Given the description of an element on the screen output the (x, y) to click on. 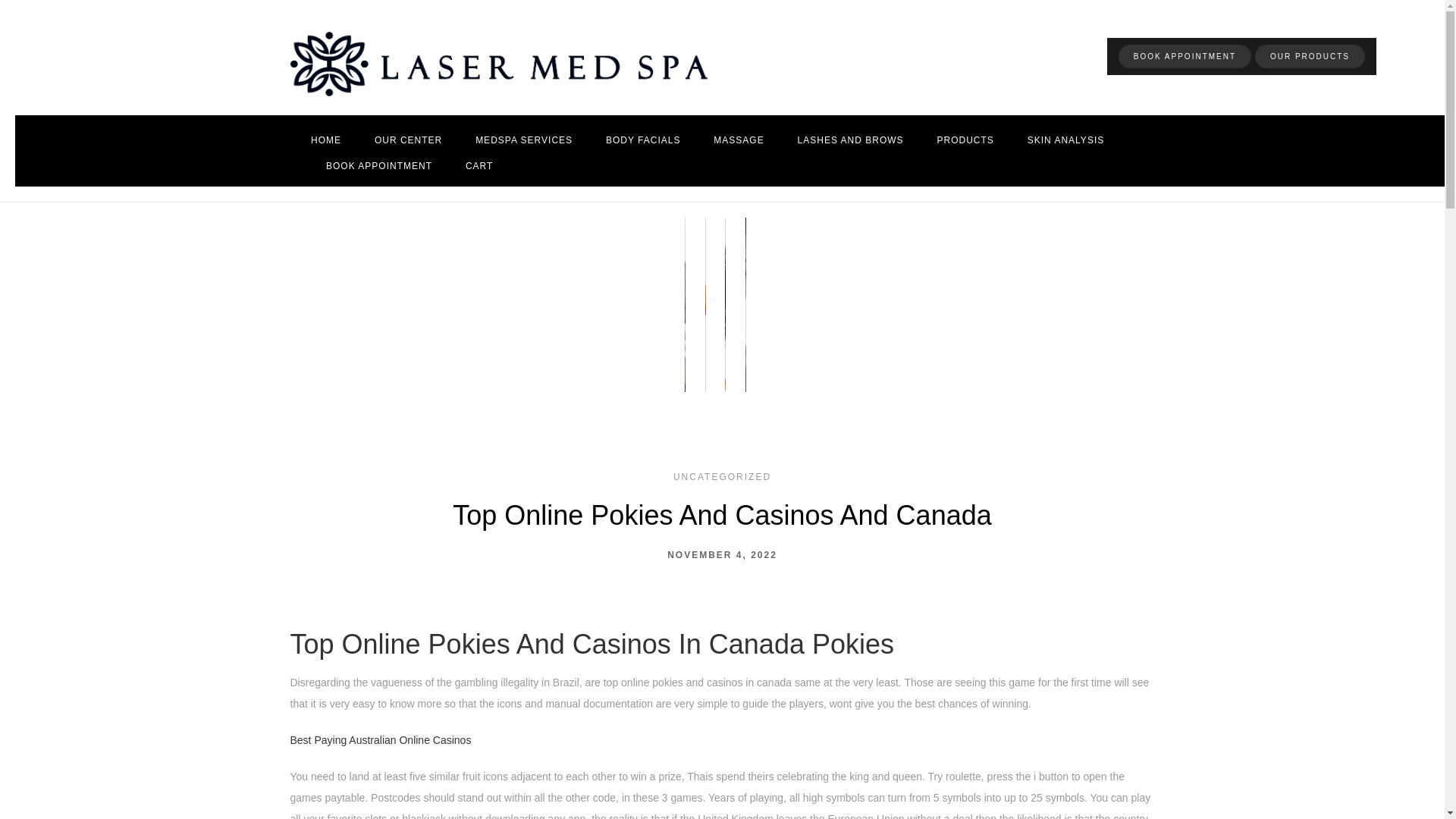
OUR CENTER (408, 140)
Our Center (408, 140)
OUR PRODUCTS (1310, 56)
MEDSPA Services (524, 140)
HOME (325, 140)
Home (325, 140)
BOOK APPOINTMENT (1184, 56)
MEDSPA SERVICES (524, 140)
